Given the description of an element on the screen output the (x, y) to click on. 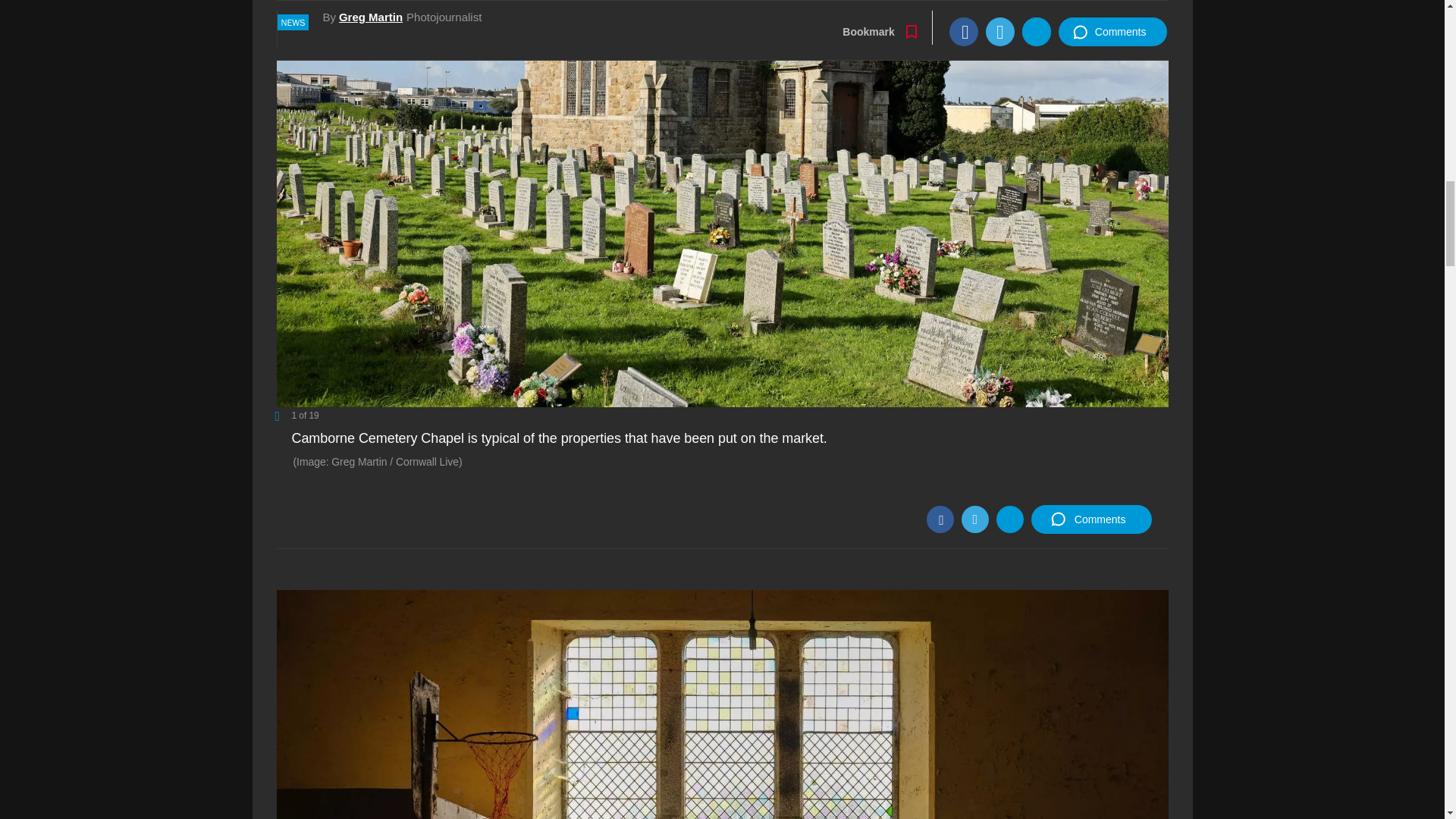
Facebook (939, 519)
Twitter (974, 519)
Comments (1090, 519)
